Given the description of an element on the screen output the (x, y) to click on. 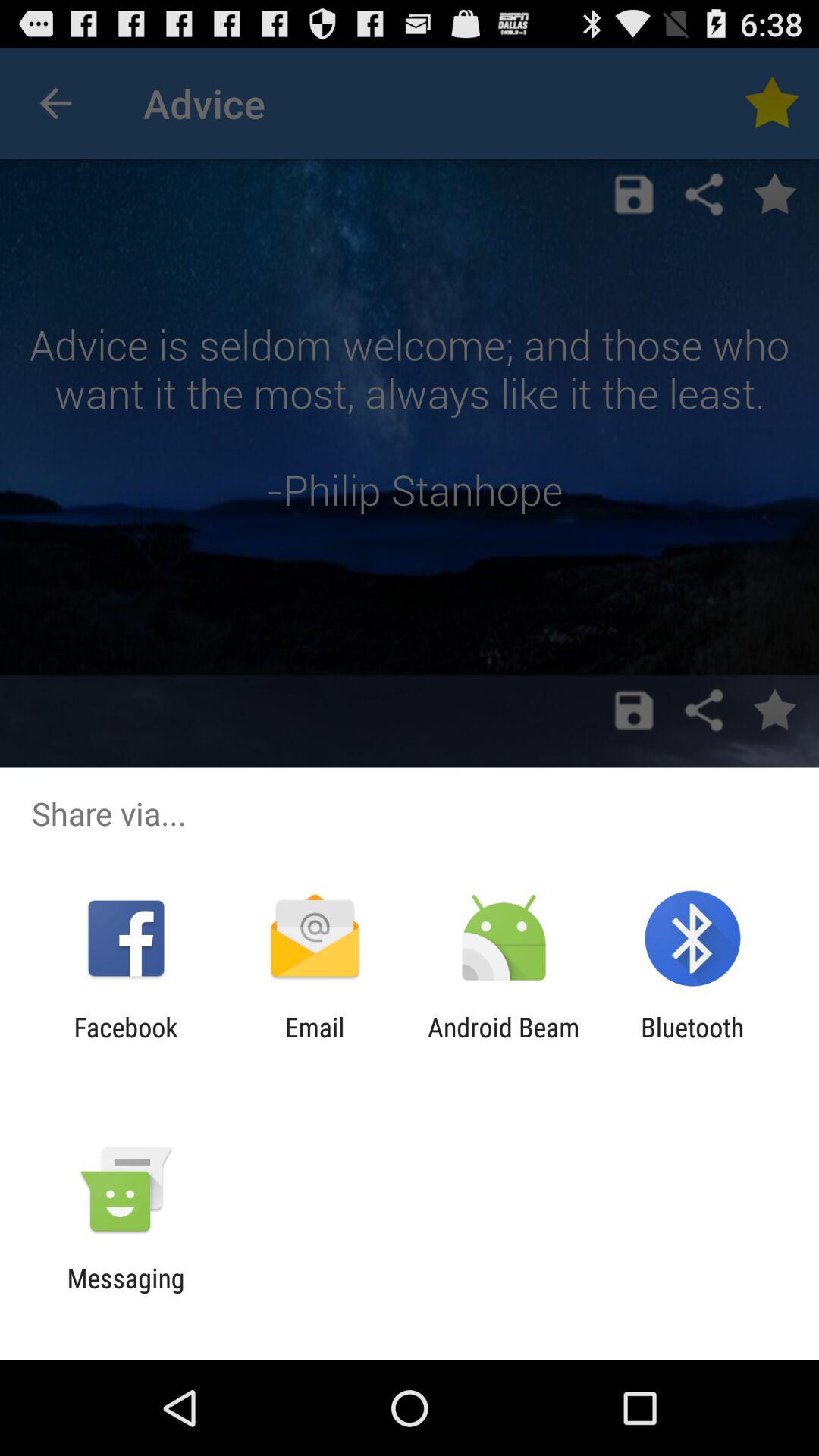
flip until the android beam icon (503, 1042)
